Given the description of an element on the screen output the (x, y) to click on. 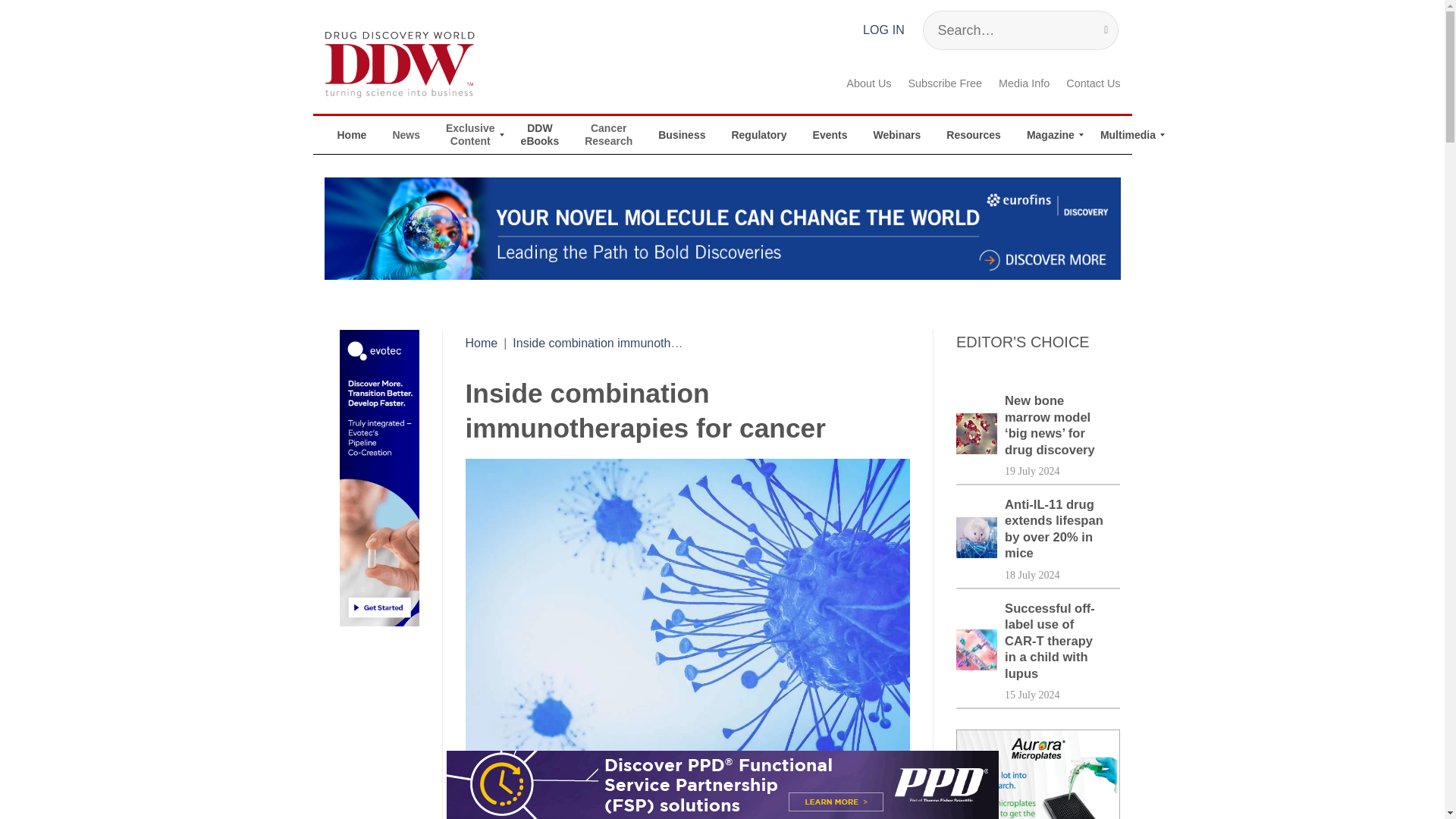
Inside combination immunotherapies for cancer  (641, 342)
Contact Us (1092, 83)
Webinars (897, 134)
News (405, 134)
Media Info (1023, 83)
Magazine (1050, 134)
Resources (973, 134)
DDW eBooks (540, 134)
Exclusive Content (470, 134)
Business (681, 134)
Cancer Research (608, 134)
About Us (868, 83)
Home (481, 342)
Regulatory (758, 134)
Multimedia (1128, 134)
